Given the description of an element on the screen output the (x, y) to click on. 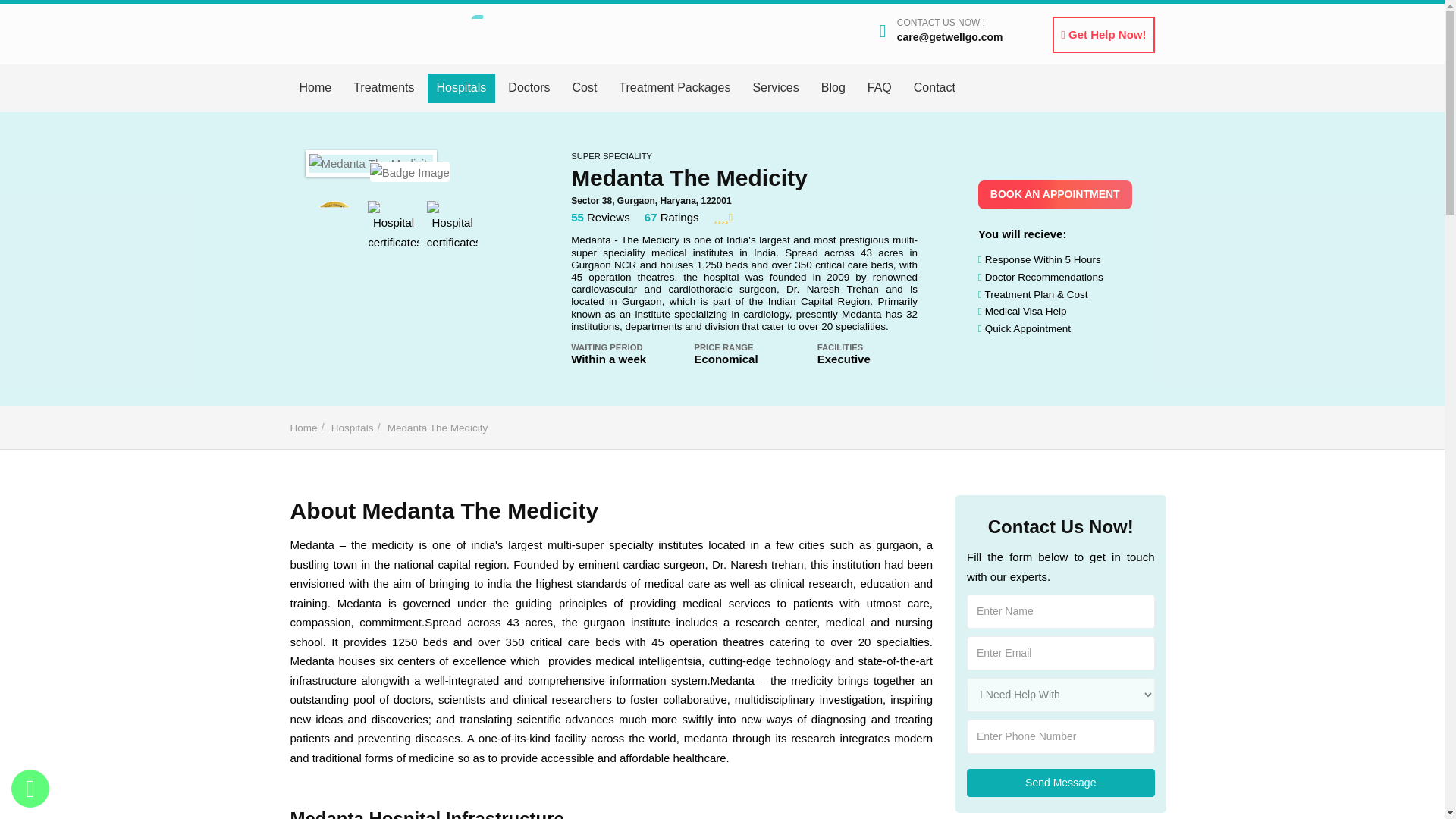
Get Help Now! (1103, 34)
Home (314, 88)
Hospitals (462, 88)
Treatments (383, 88)
